Given the description of an element on the screen output the (x, y) to click on. 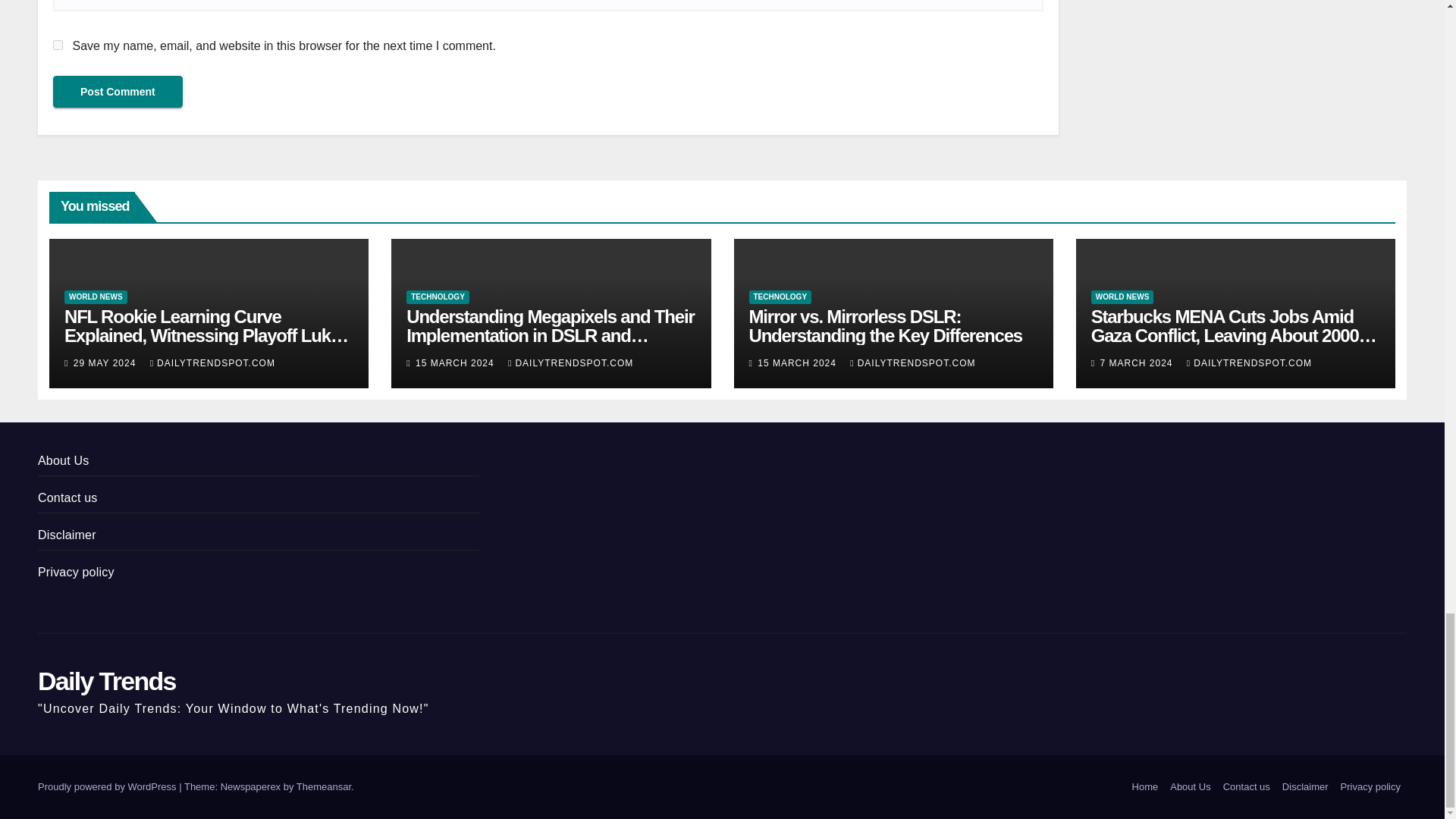
Home (1144, 786)
yes (57, 44)
Post Comment (117, 91)
